Given the description of an element on the screen output the (x, y) to click on. 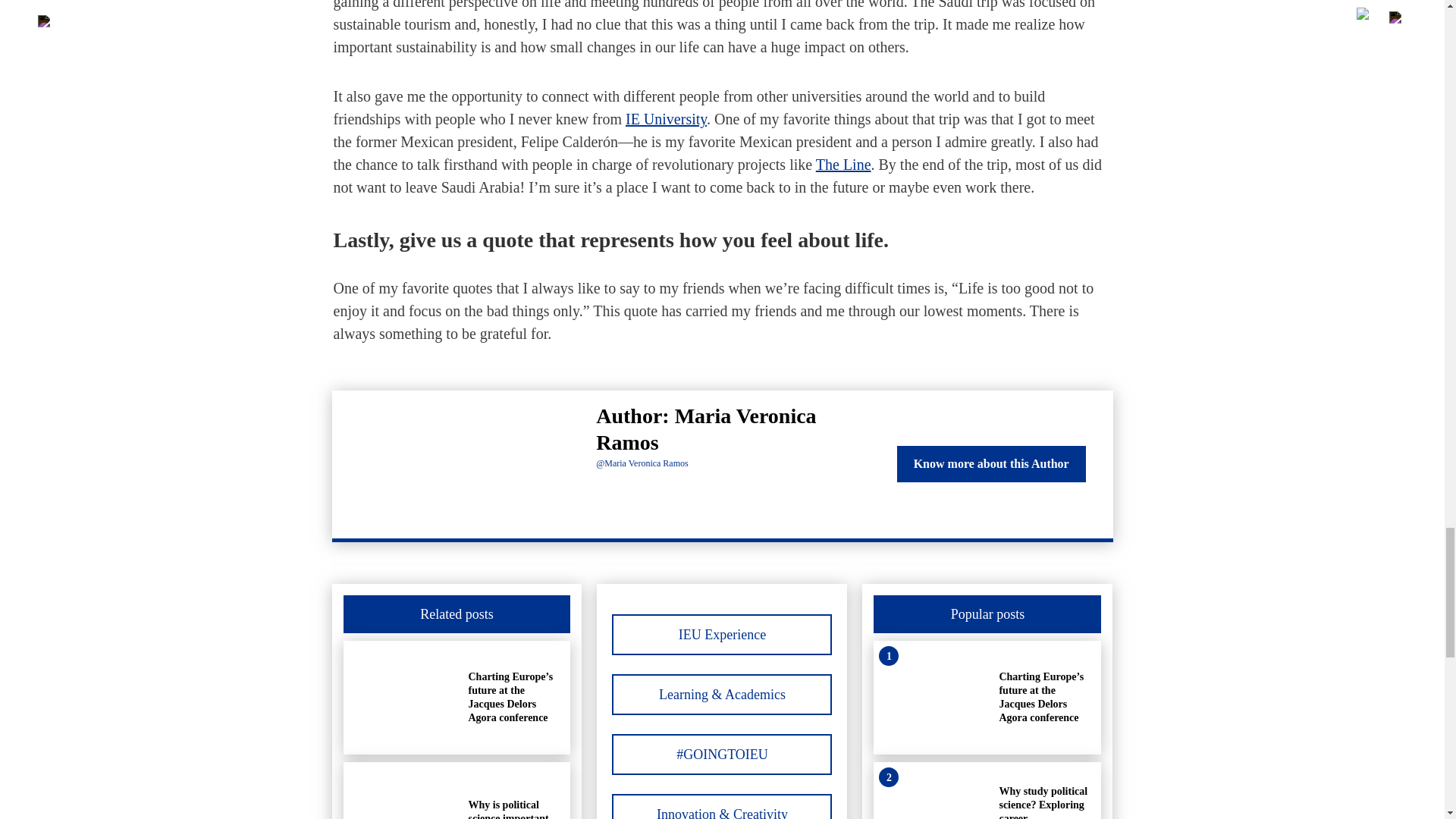
IE University (666, 118)
